Given the description of an element on the screen output the (x, y) to click on. 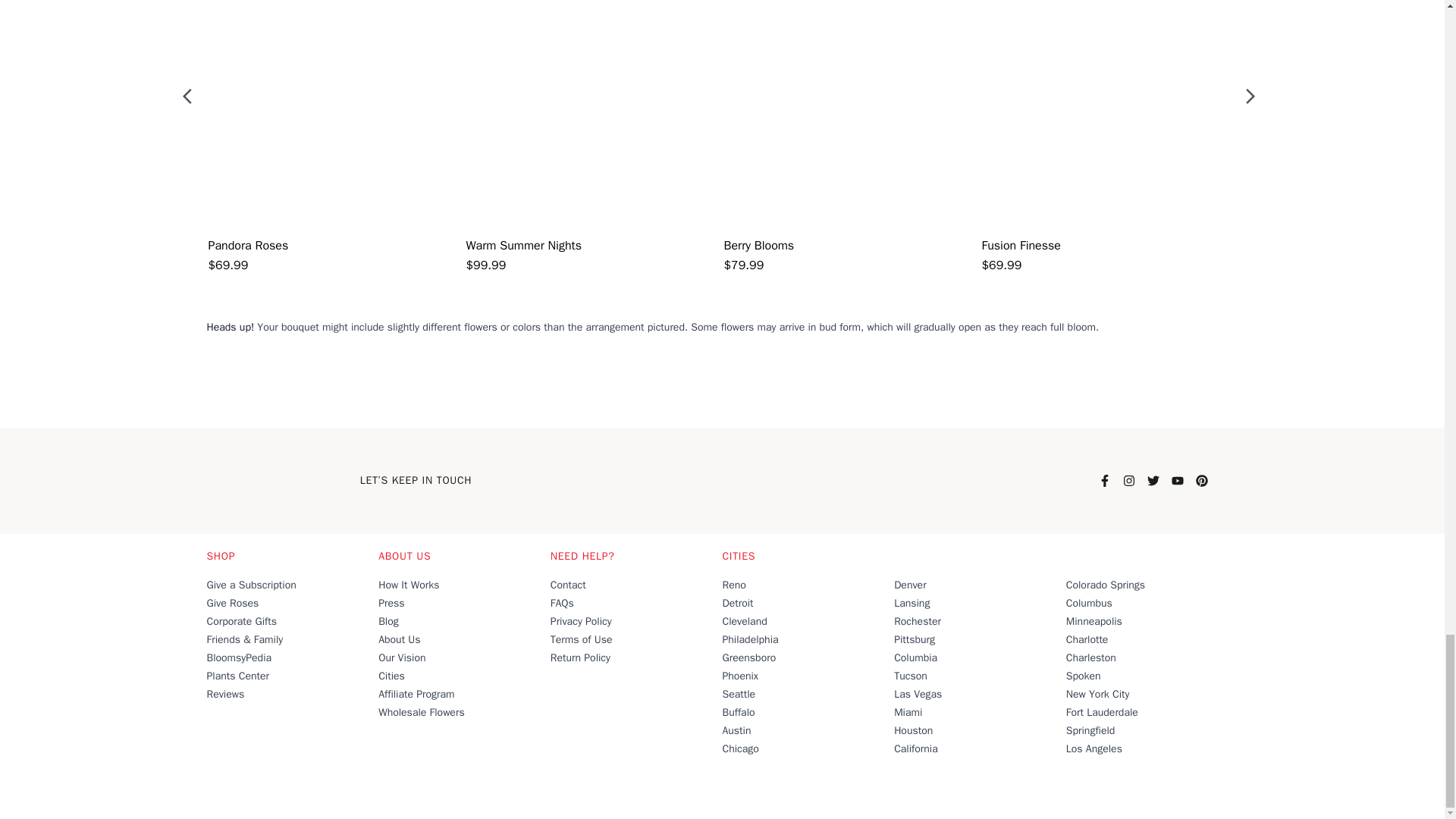
Pinterest (1201, 480)
YouTube (1176, 480)
Instagram (1128, 480)
Facebook (1103, 480)
Twitter (1152, 480)
